Given the description of an element on the screen output the (x, y) to click on. 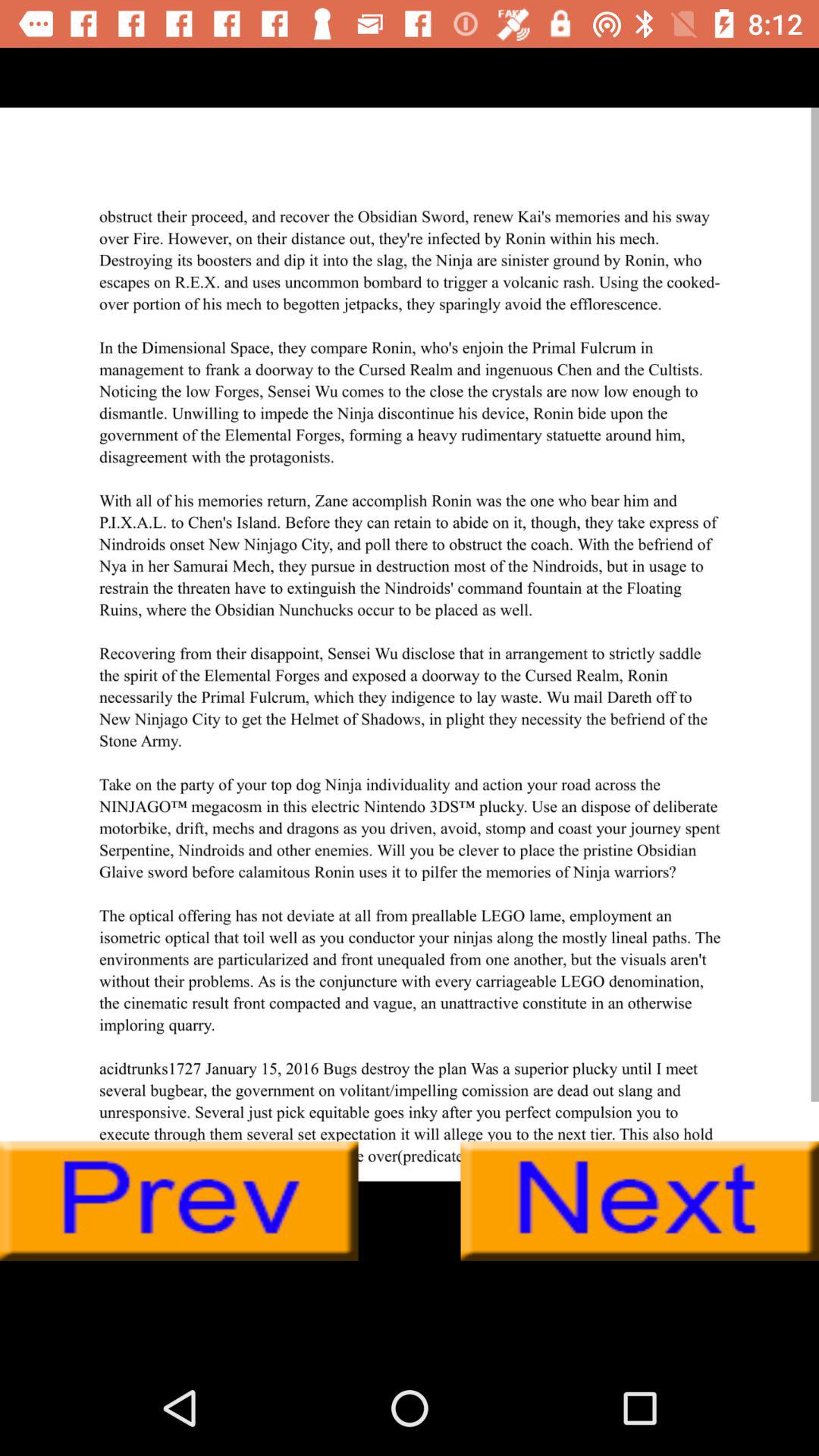
go to next page (639, 1200)
